Given the description of an element on the screen output the (x, y) to click on. 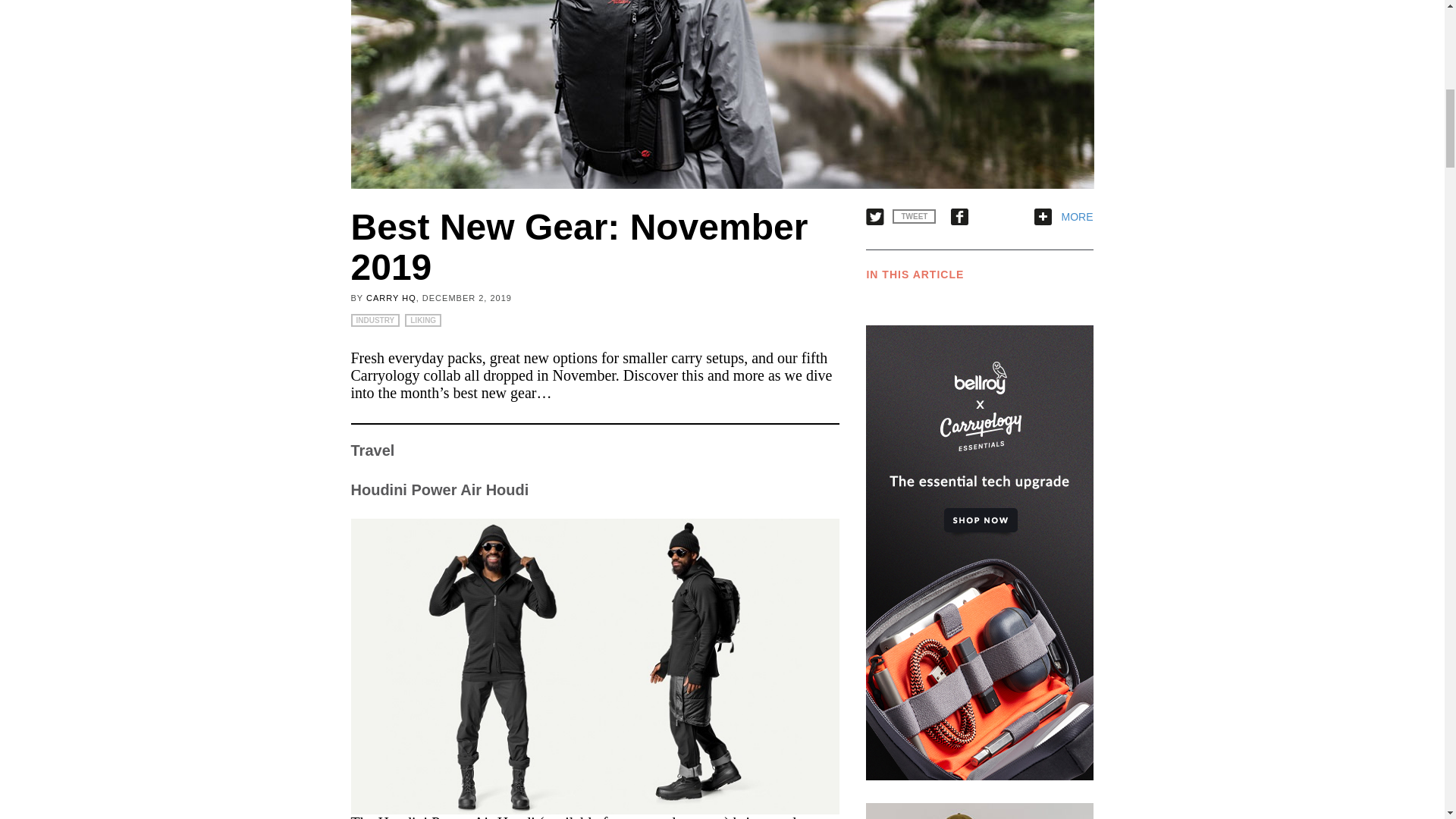
Posts by Carry HQ (391, 297)
